Given the description of an element on the screen output the (x, y) to click on. 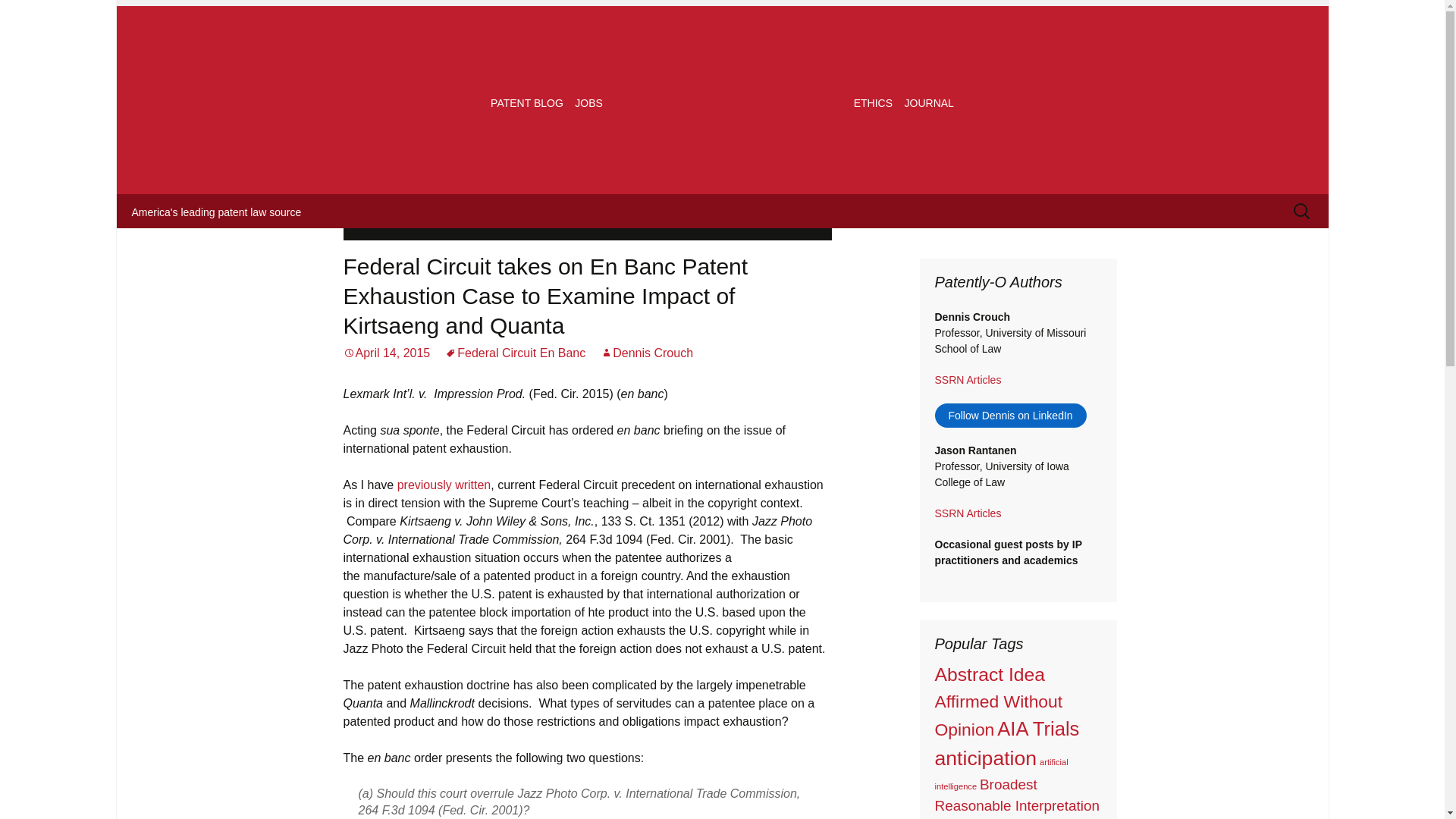
Patent Law Journal from Patently-O (928, 102)
SSRN Articles (967, 379)
SSRN Articles (967, 512)
Patent law ethics by Hricik from Patently-O (872, 102)
Search (37, 15)
Dennis Crouch (646, 352)
JOURNAL (928, 102)
April 14, 2015 (385, 352)
Follow Dennis on LinkedIn (1010, 415)
PATENT BLOG (526, 102)
previously written (444, 484)
Patent law and IP law jobs from Patently-O (588, 102)
ETHICS (872, 102)
JOBS (588, 102)
